Given the description of an element on the screen output the (x, y) to click on. 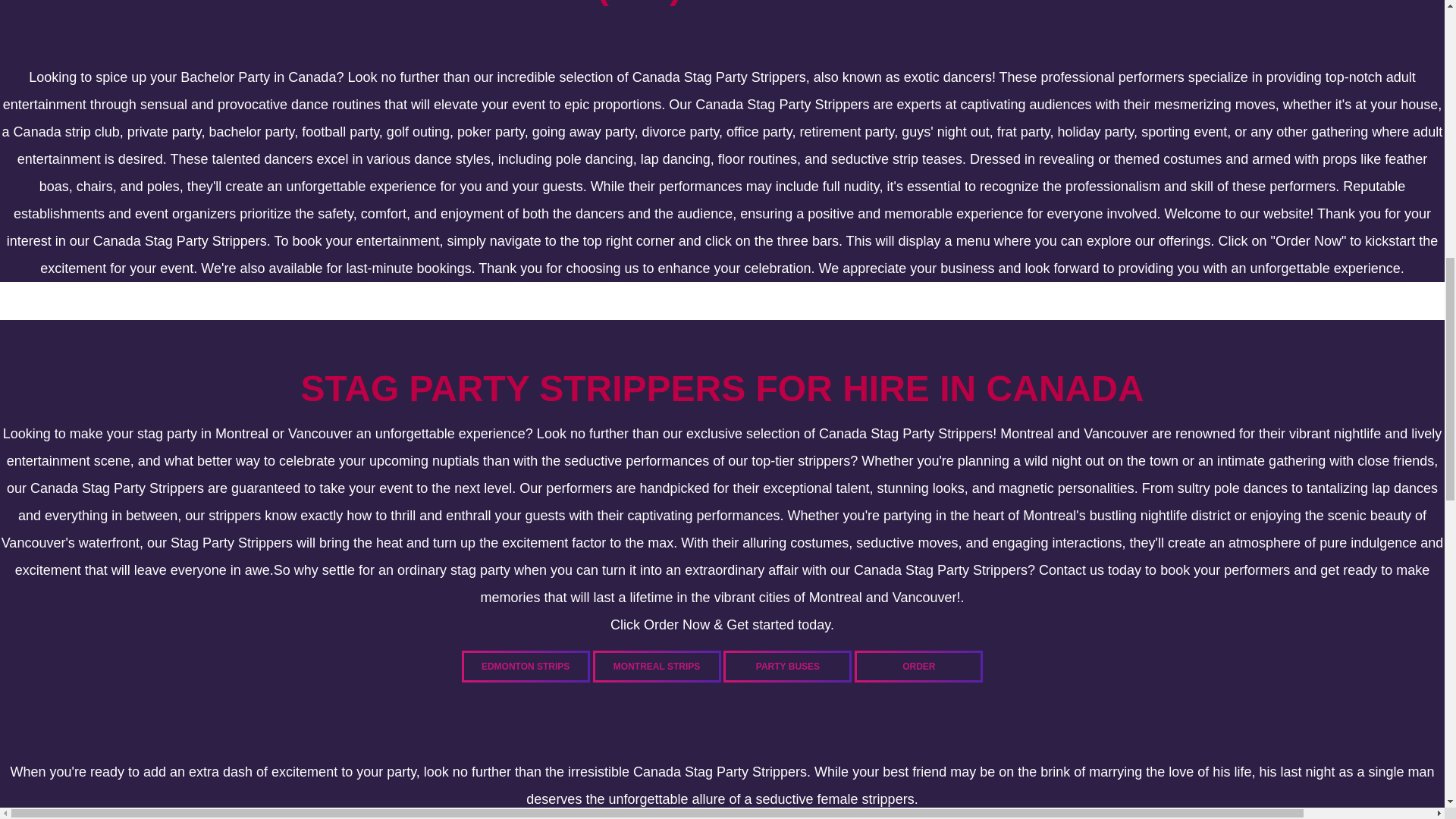
EDMONTON STRIPS (525, 666)
PARTY BUSES (787, 666)
ORDER (918, 666)
MONTREAL STRIPS (656, 666)
